Given the description of an element on the screen output the (x, y) to click on. 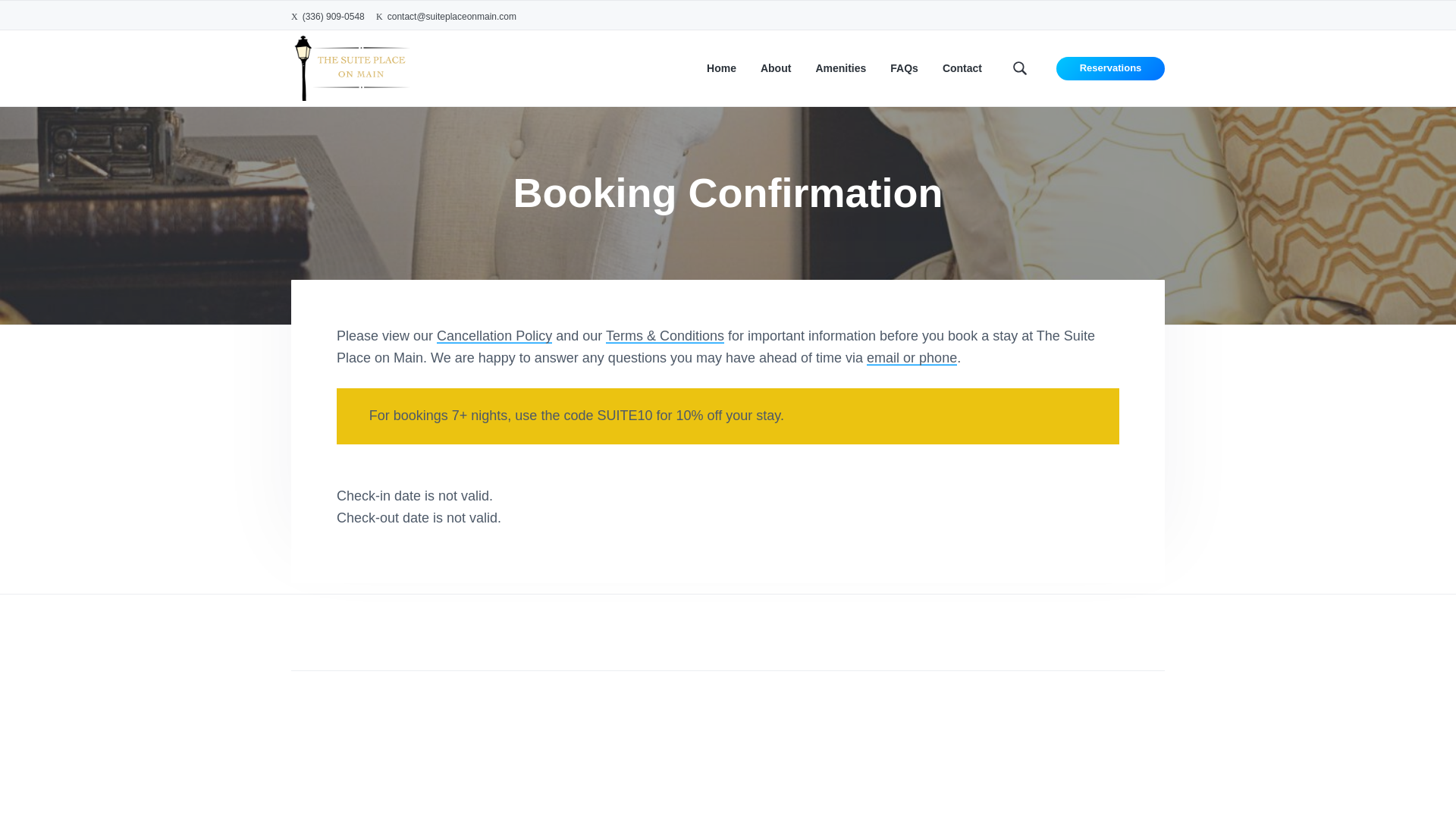
Cancellation Policy (493, 335)
Reservations (1110, 68)
About (775, 67)
Contact (961, 67)
Search (60, 18)
email or phone (911, 357)
Amenities (840, 67)
Home (721, 67)
FAQs (903, 67)
